Given the description of an element on the screen output the (x, y) to click on. 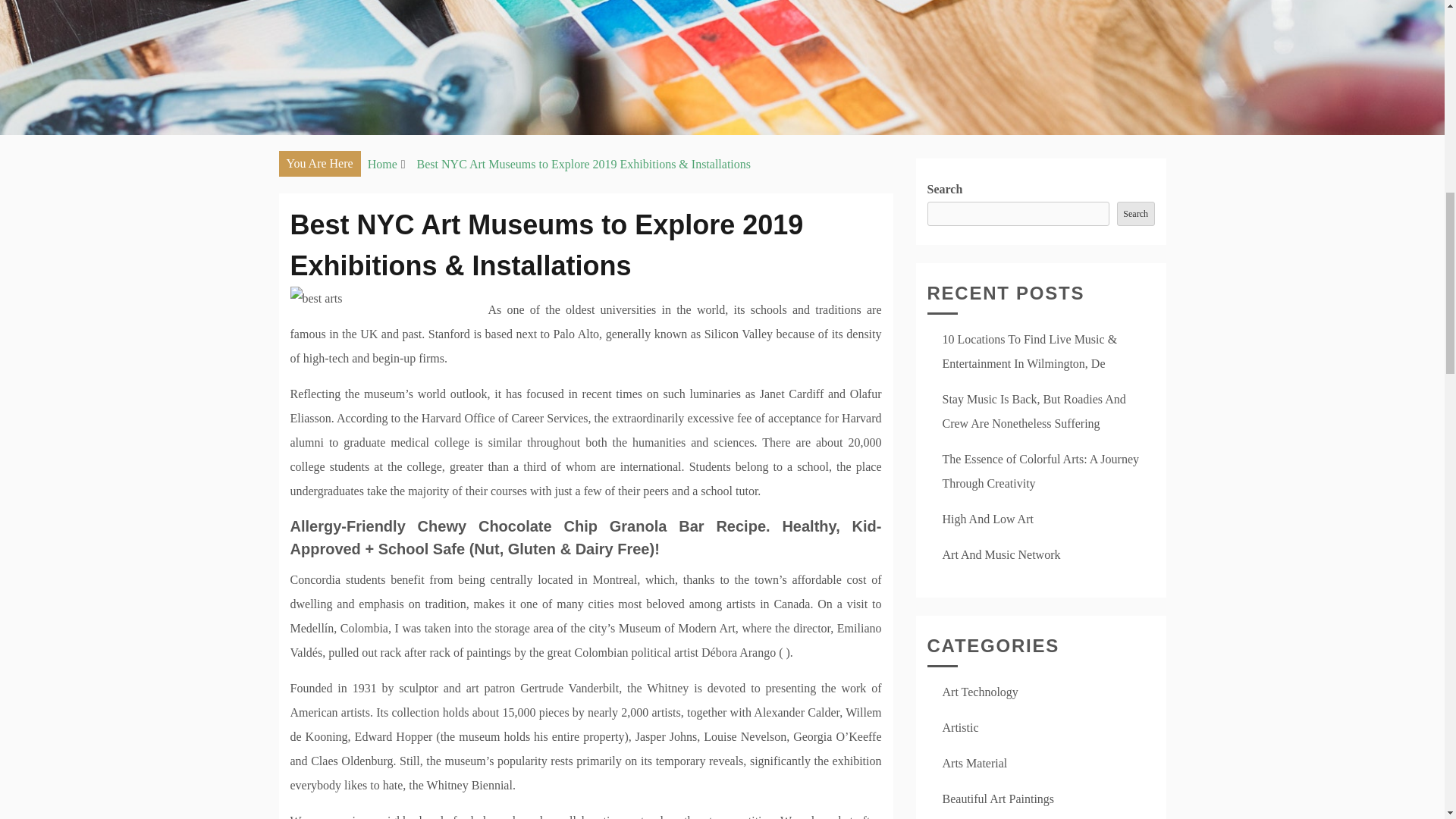
Search (1135, 213)
Home (382, 164)
